Given the description of an element on the screen output the (x, y) to click on. 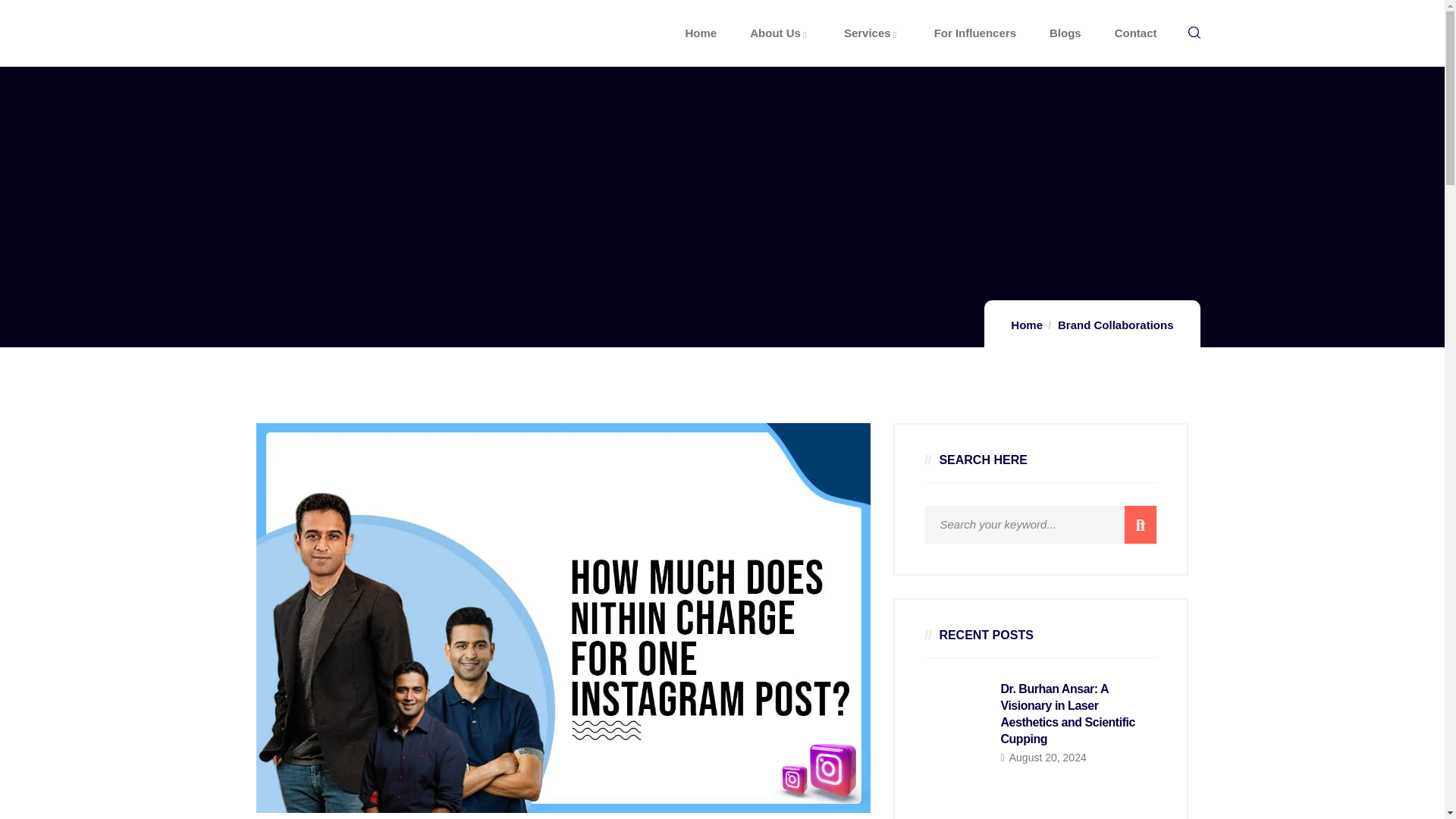
For Influencers (975, 33)
About Us (780, 33)
Services (872, 33)
